Given the description of an element on the screen output the (x, y) to click on. 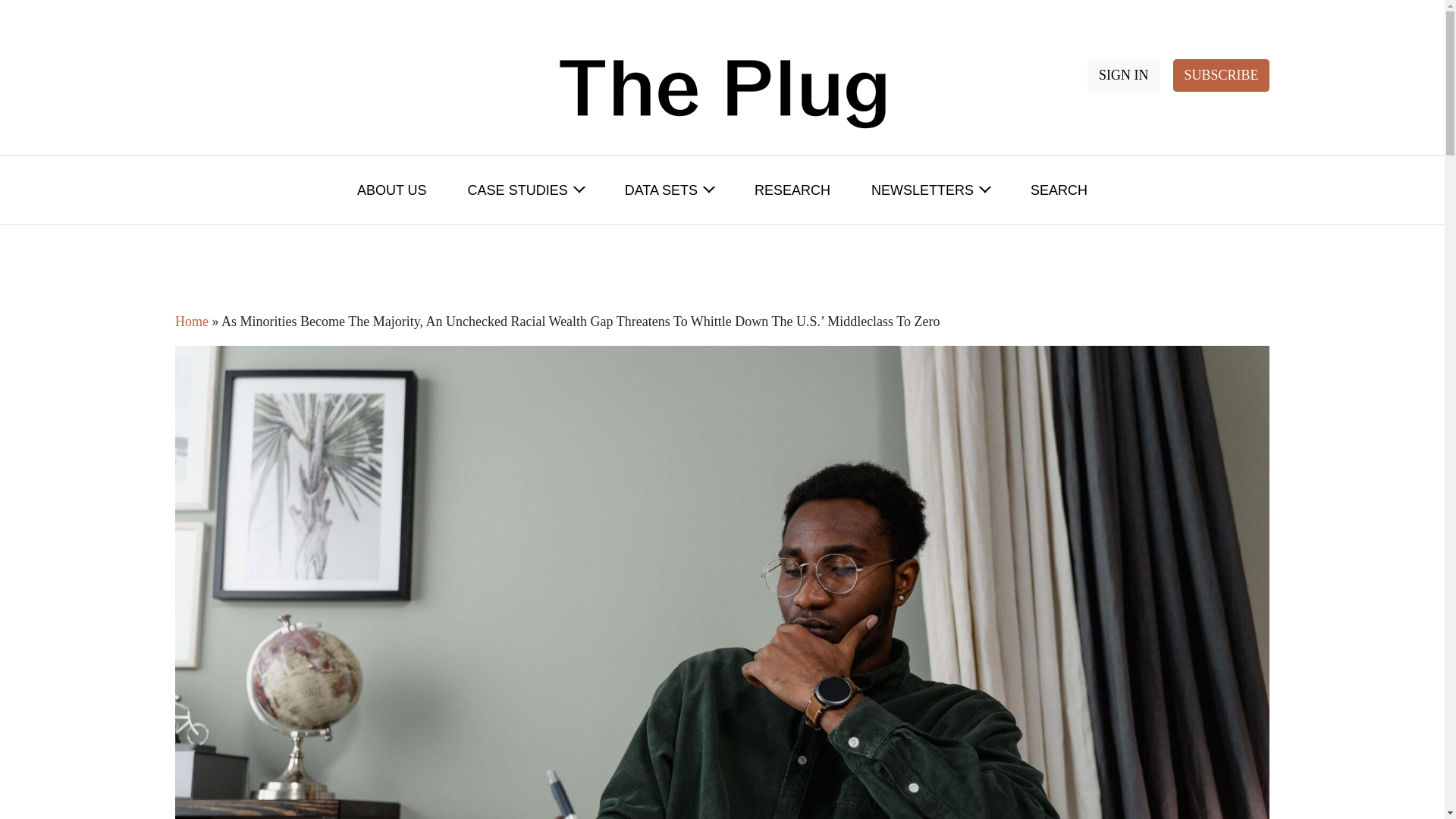
Home (191, 321)
SEARCH (1058, 189)
SIGN IN (1122, 74)
Data Sets (668, 189)
Case Studies (526, 189)
CASE STUDIES (526, 189)
Research (792, 189)
SUBSCRIBE (1221, 74)
NEWSLETTERS (929, 189)
ABOUT US (391, 189)
